Given the description of an element on the screen output the (x, y) to click on. 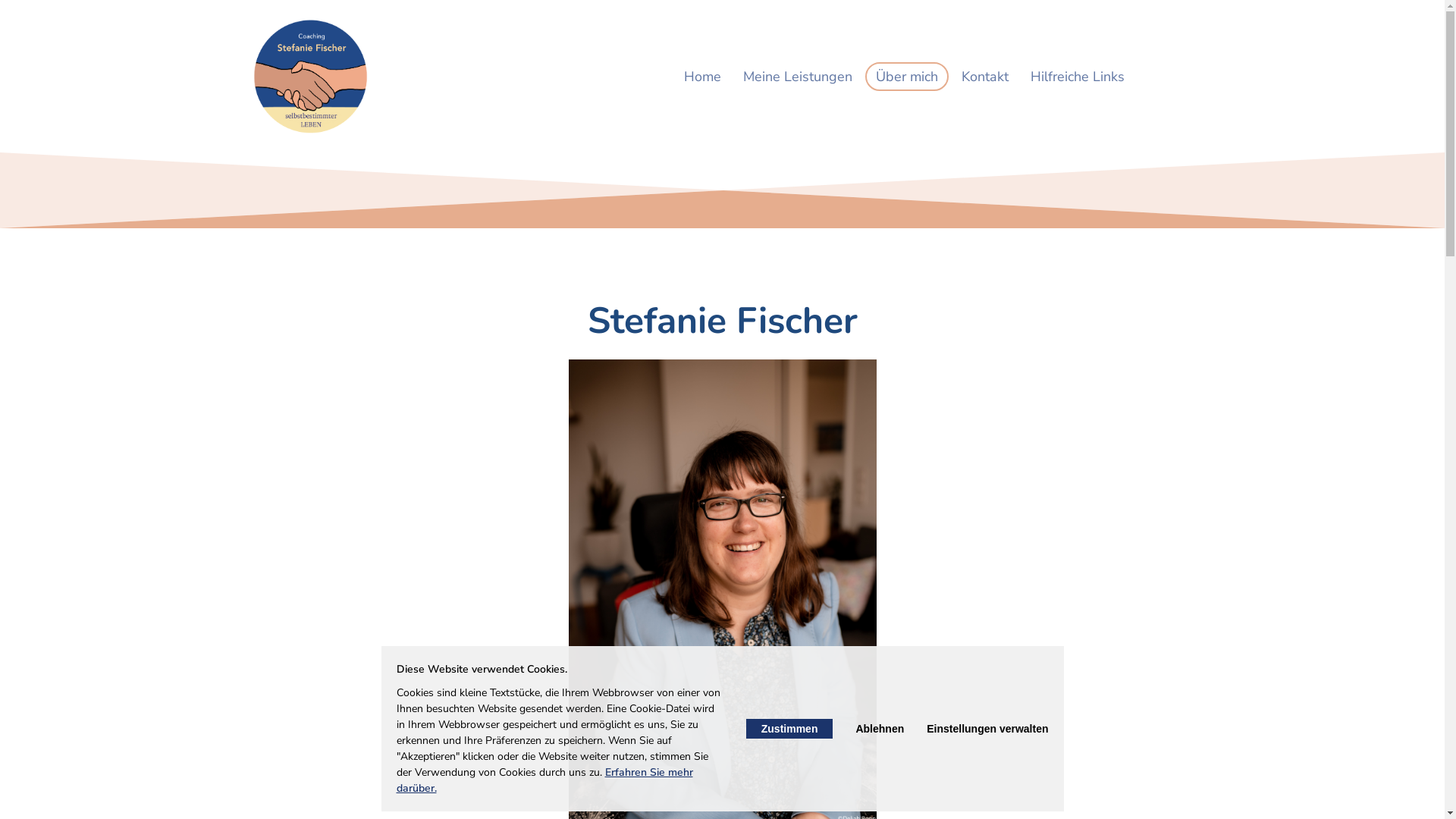
Kontakt Element type: text (984, 76)
Meine Leistungen Element type: text (797, 76)
Ablehnen Element type: text (879, 728)
Zustimmen Element type: text (789, 728)
Einstellungen verwalten Element type: text (987, 728)
Home Element type: text (702, 76)
Hilfreiche Links Element type: text (1077, 76)
